Given the description of an element on the screen output the (x, y) to click on. 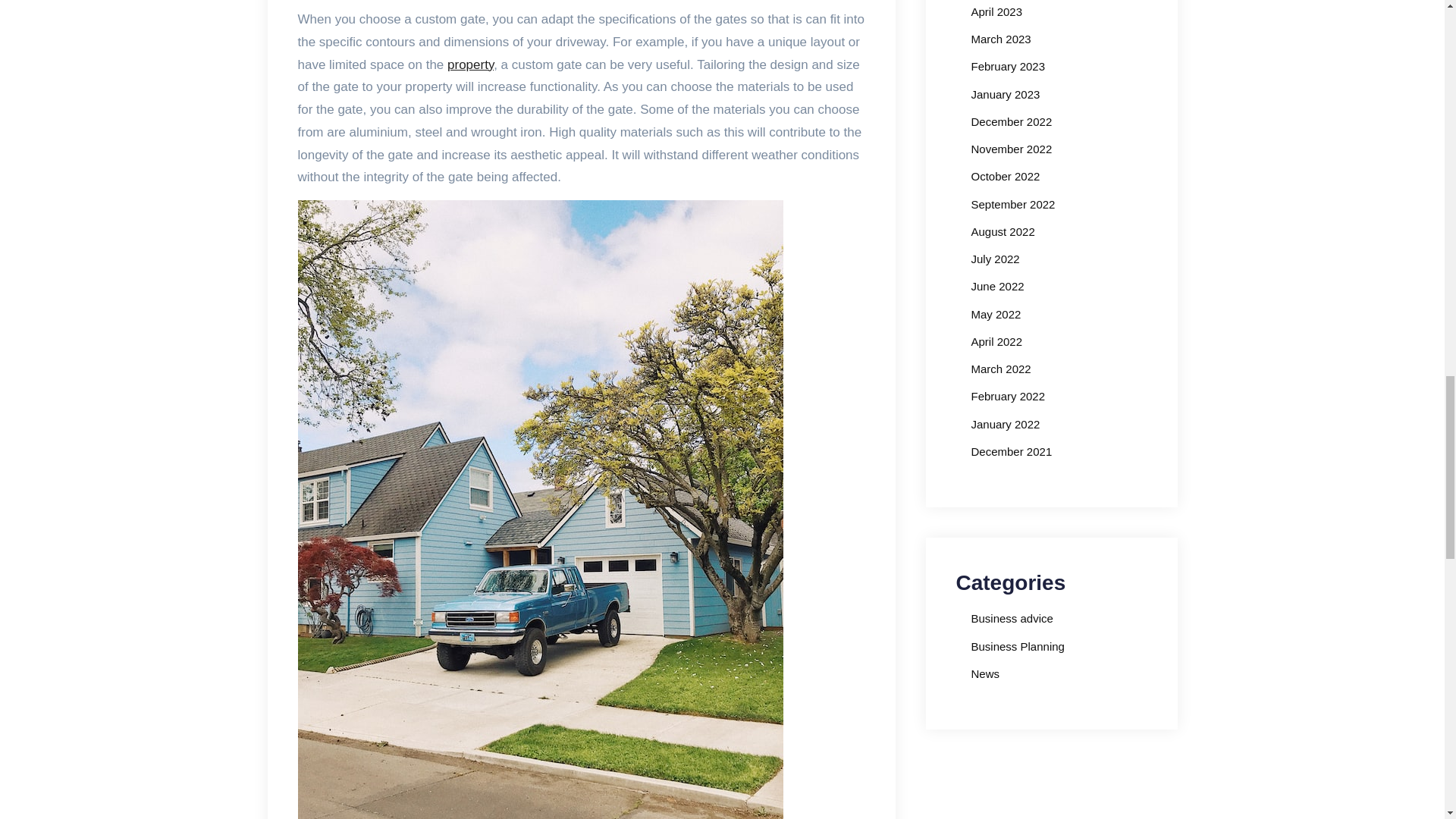
January 2023 (1005, 93)
March 2023 (1000, 38)
April 2023 (996, 11)
February 2023 (1008, 65)
December 2022 (1011, 121)
property (469, 64)
November 2022 (1011, 148)
